Given the description of an element on the screen output the (x, y) to click on. 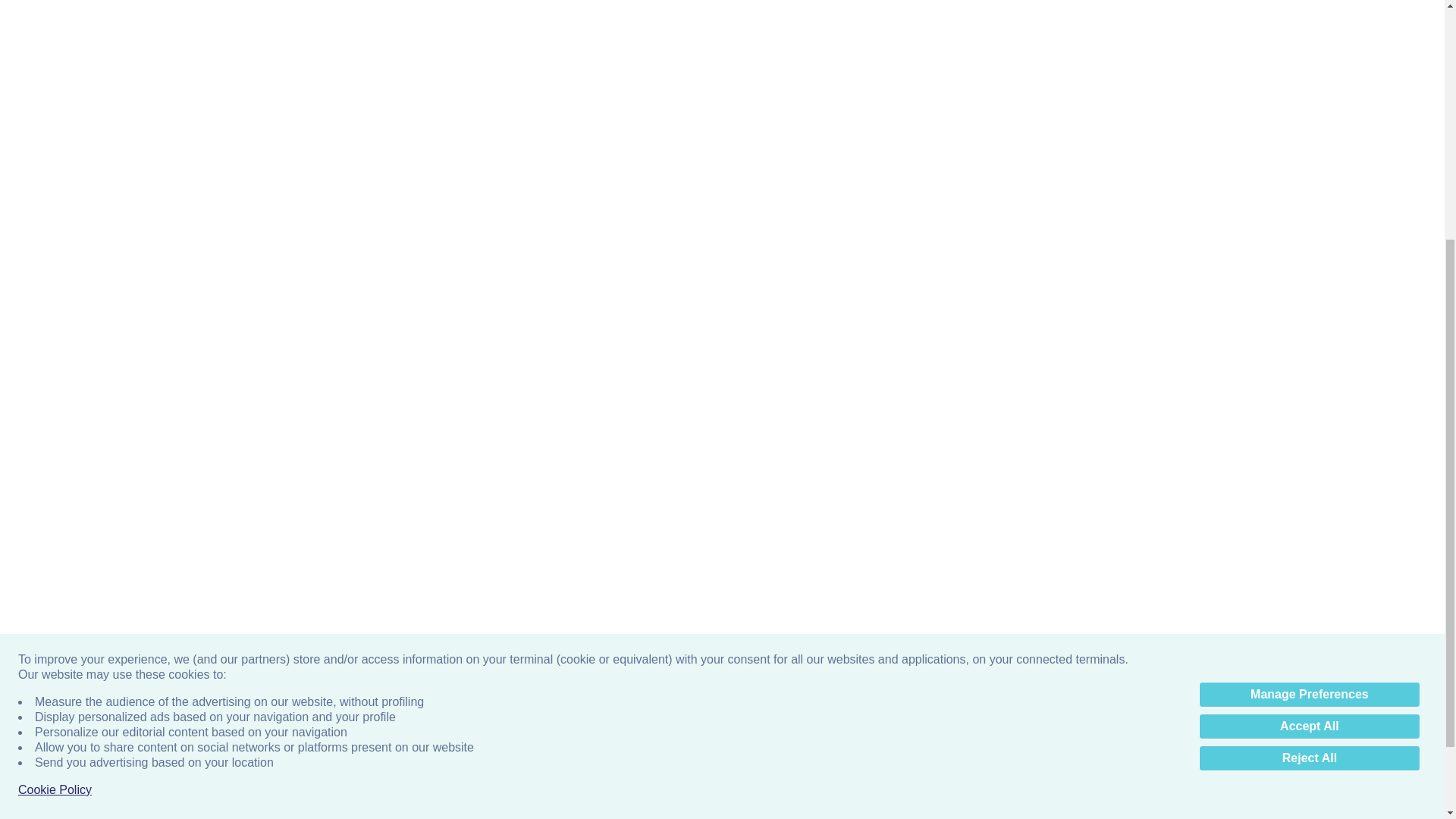
Accept All (1309, 356)
Cookie Policy (54, 419)
Reject All (1309, 388)
Manage Preferences (1309, 324)
